Given the description of an element on the screen output the (x, y) to click on. 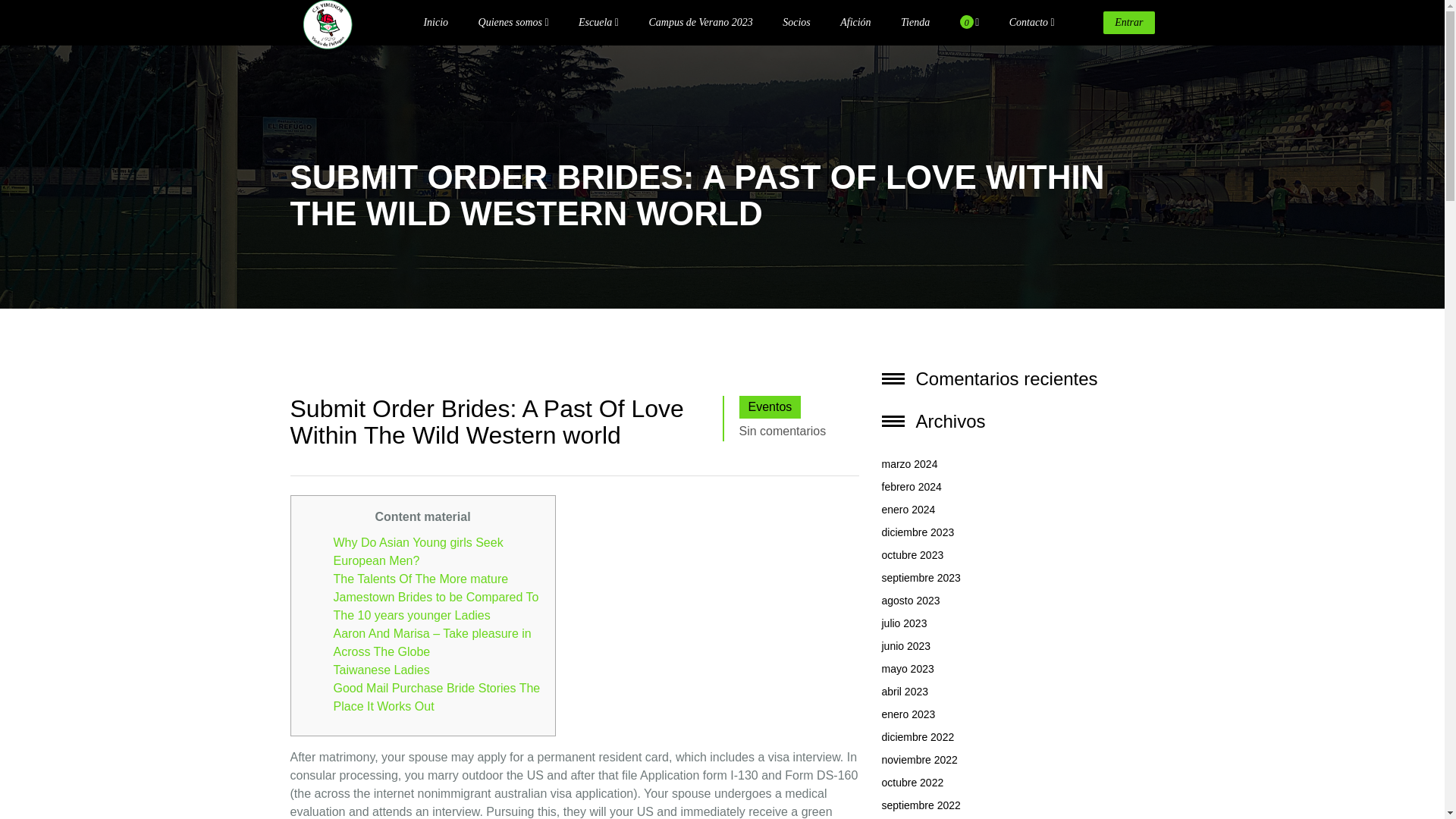
Sin comentarios (781, 431)
Eventos (769, 406)
Quienes somos (513, 22)
Entrar (1128, 22)
Contacto (1031, 22)
Good Mail Purchase Bride Stories The Place It Works Out (436, 696)
Taiwanese Ladies (381, 669)
Campus de Verano 2023 (699, 22)
Why Do Asian Young girls Seek European Men? (418, 551)
